Given the description of an element on the screen output the (x, y) to click on. 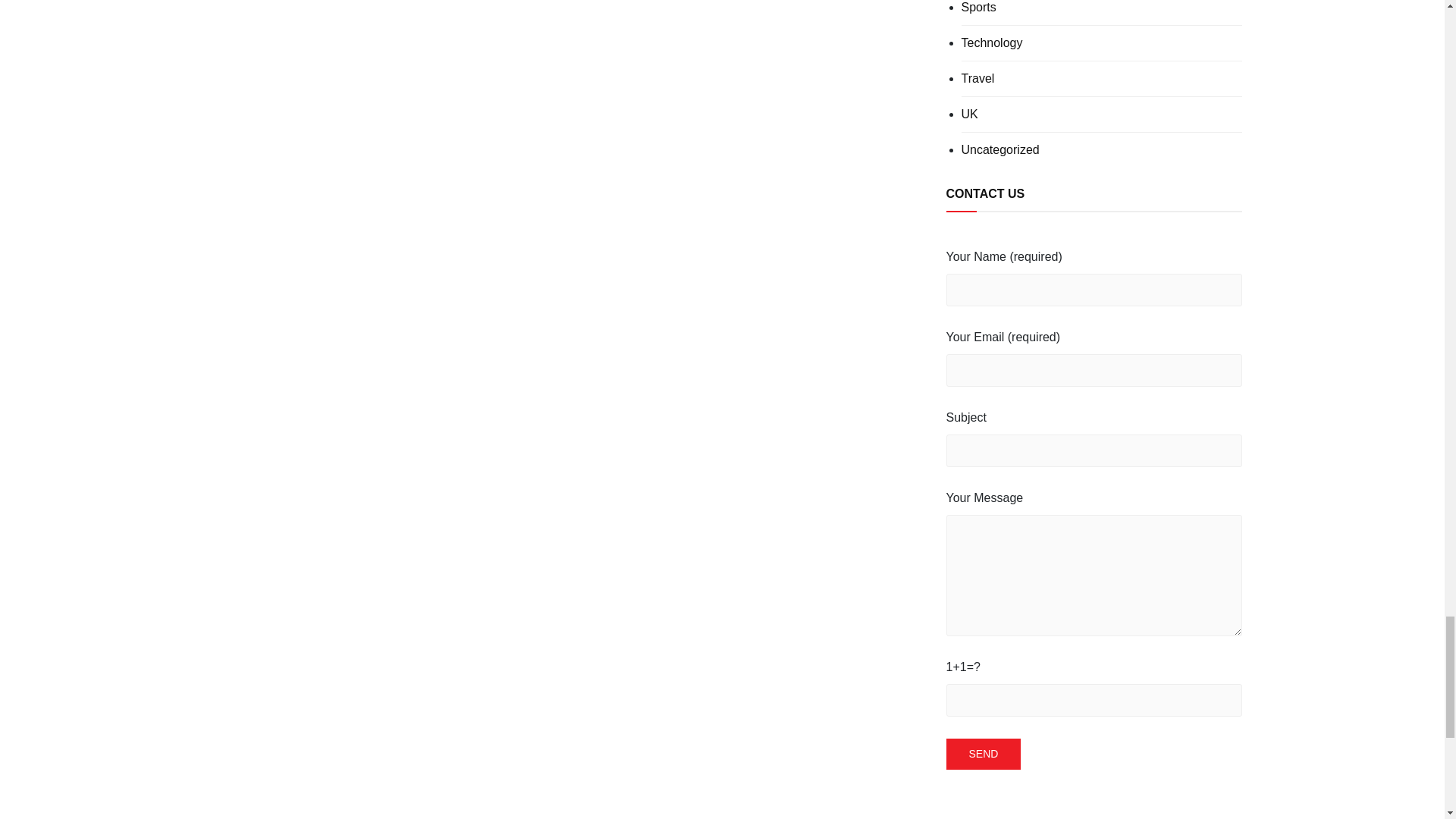
Send (984, 753)
